Given the description of an element on the screen output the (x, y) to click on. 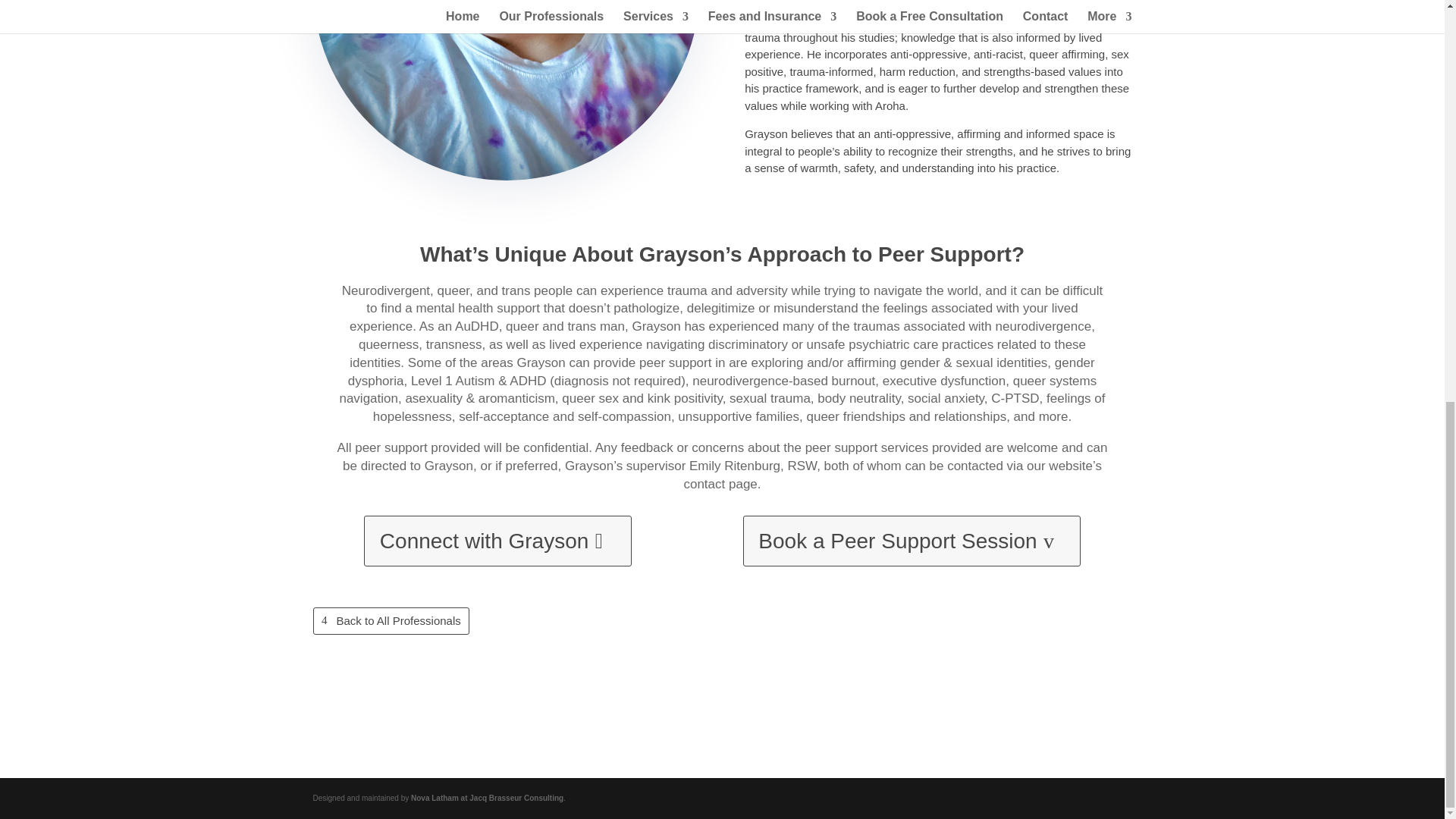
Back to All Professionals (390, 621)
Book a Peer Support Session (911, 540)
Connect with Grayson (497, 540)
